Given the description of an element on the screen output the (x, y) to click on. 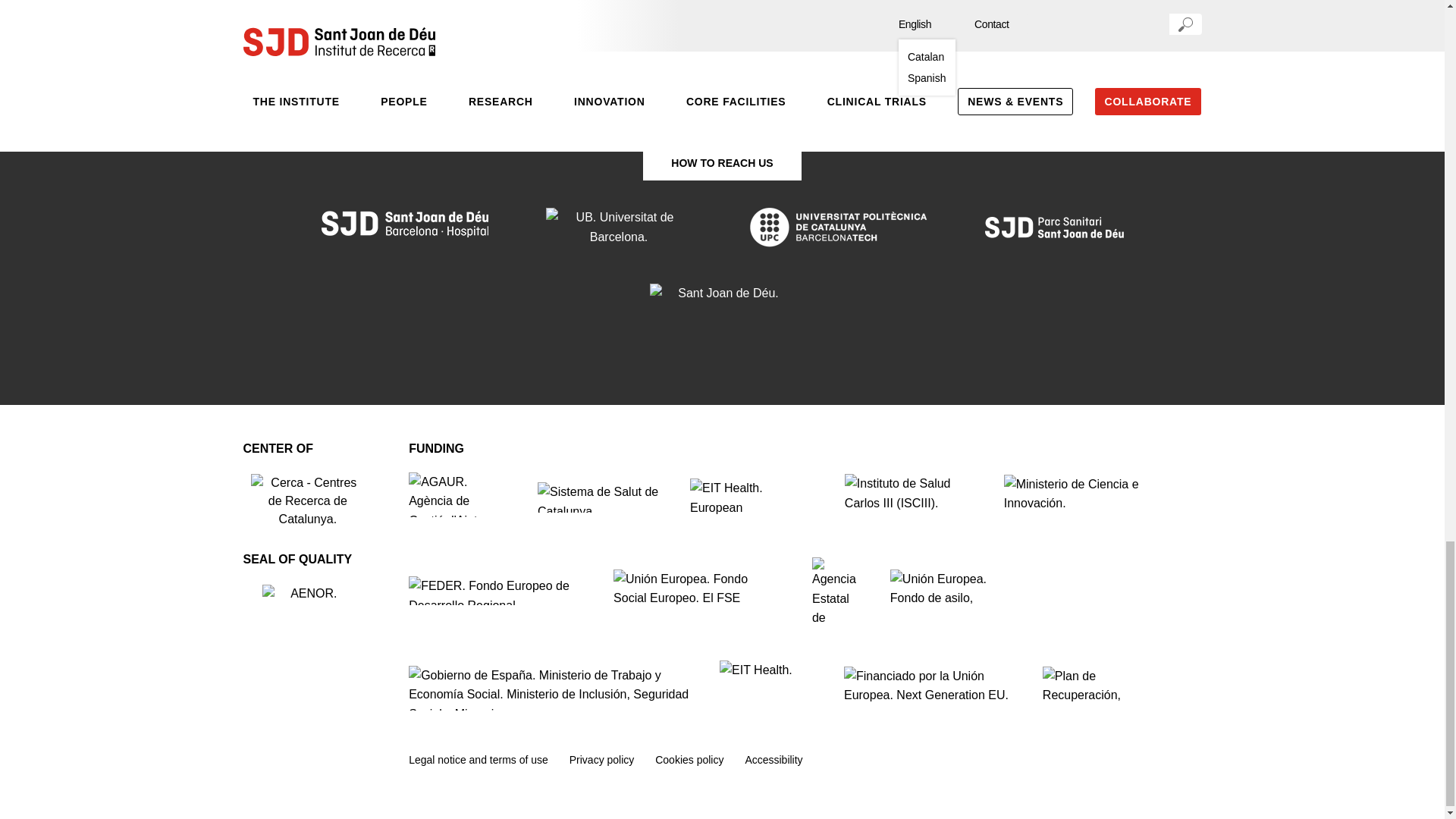
Instagram (762, 103)
Contact (721, 42)
ico-twitter-portada (682, 103)
Youtube (721, 104)
